Given the description of an element on the screen output the (x, y) to click on. 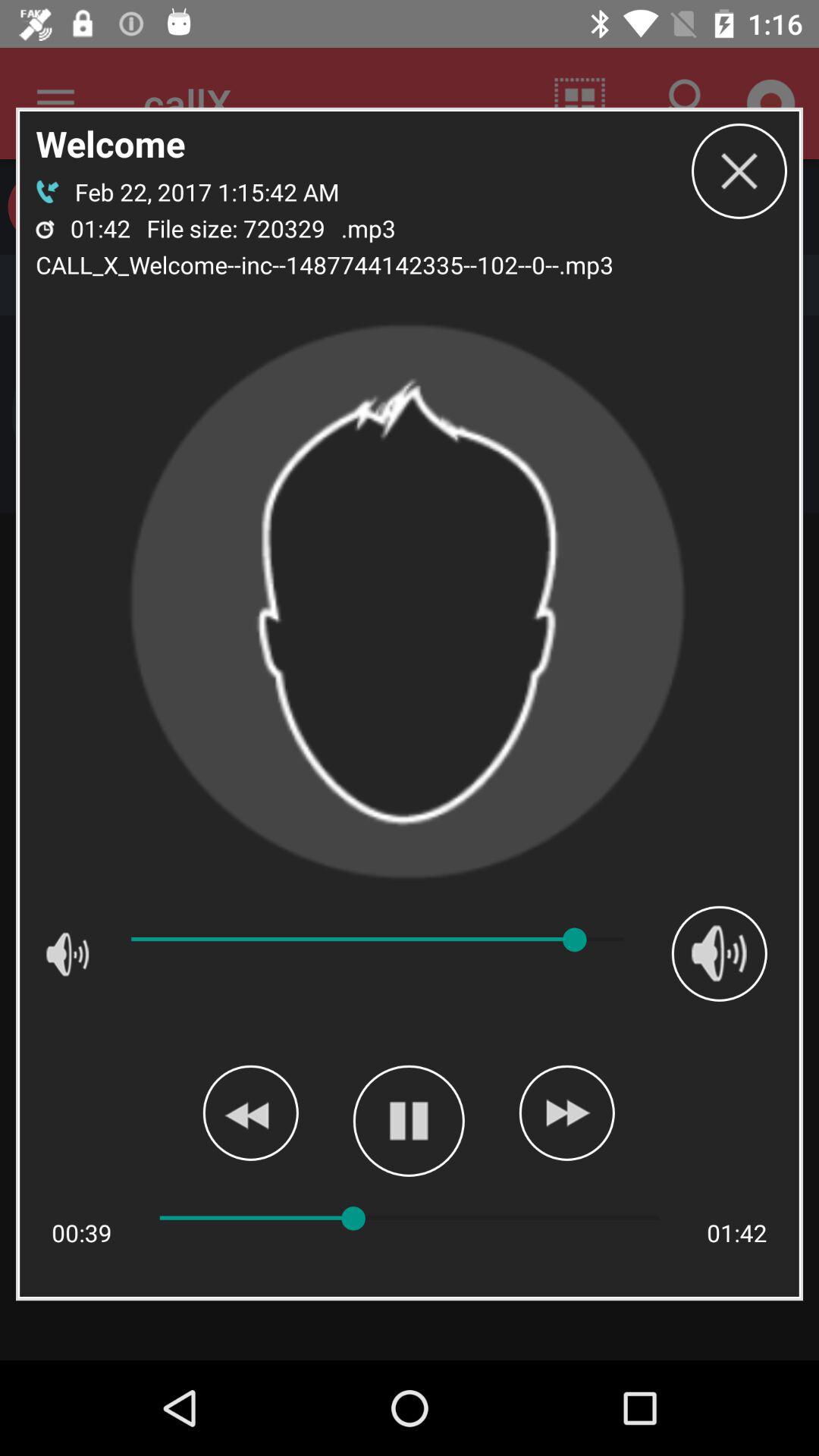
choose the icon to the right of .mp3 app (739, 170)
